Given the description of an element on the screen output the (x, y) to click on. 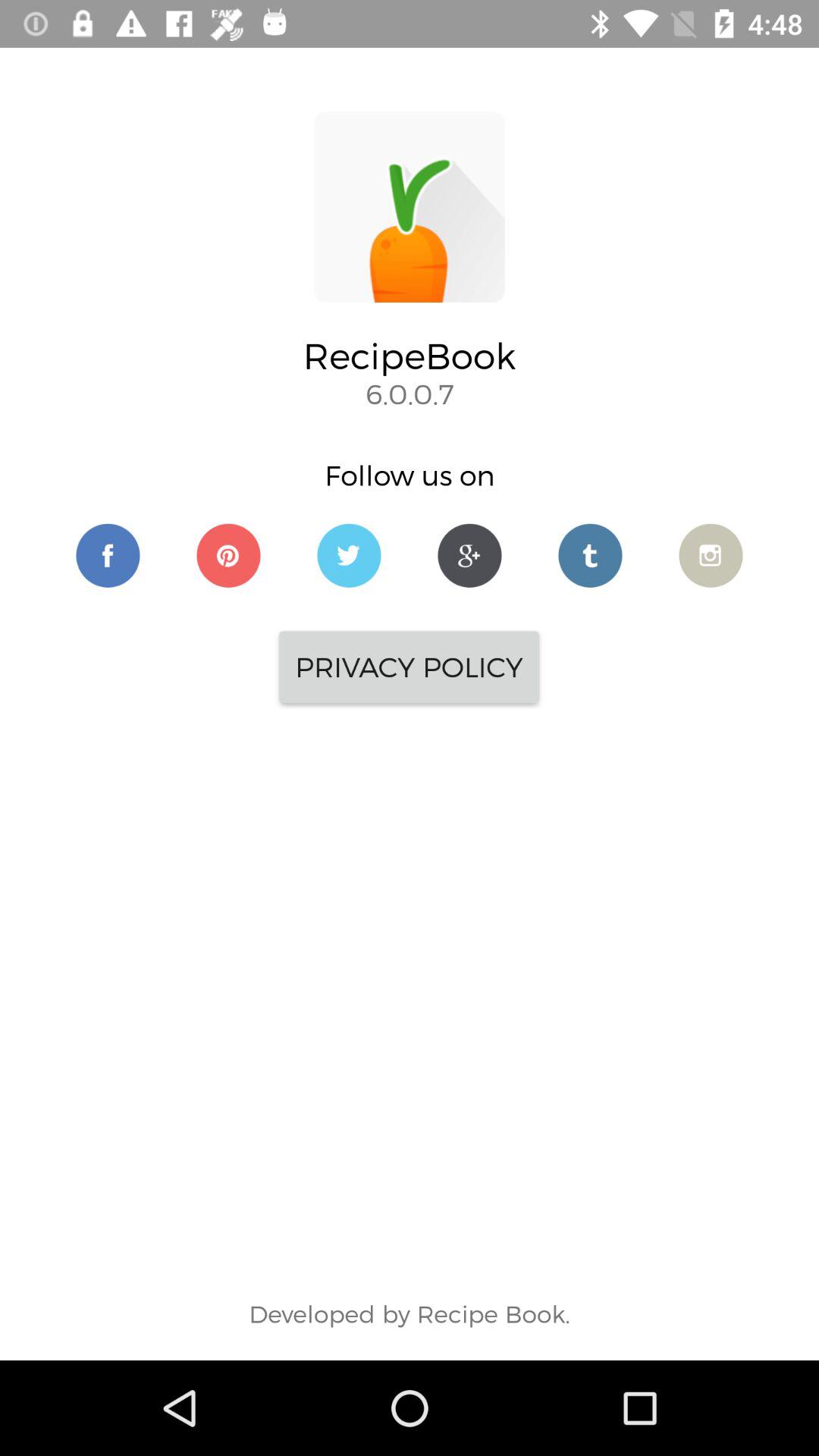
open camera (710, 555)
